Given the description of an element on the screen output the (x, y) to click on. 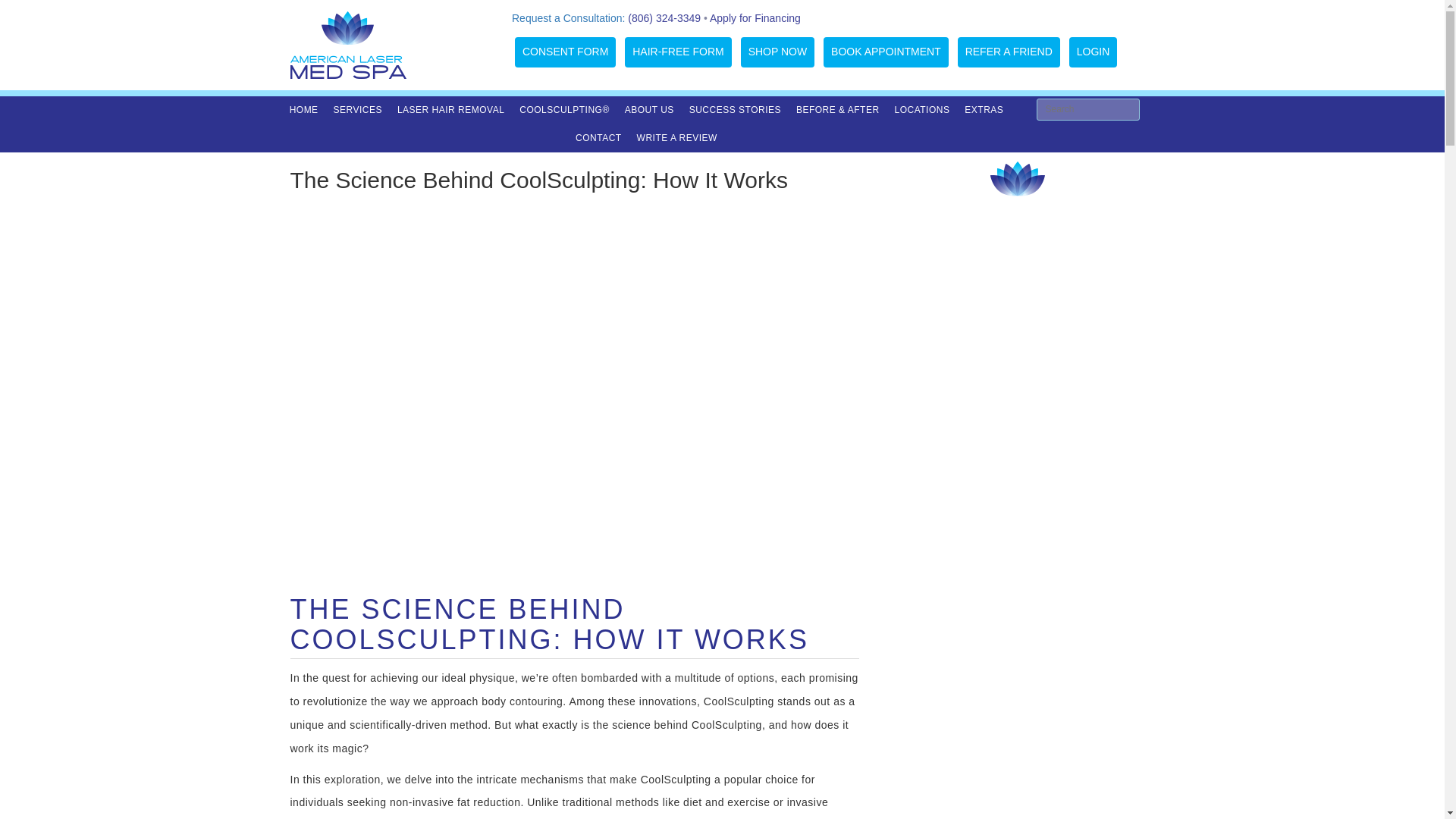
SHOP NOW (778, 52)
CONSENT FORM (565, 52)
SERVICES (357, 110)
LOGIN (1093, 52)
Apply for Financing (755, 18)
HOME (303, 110)
BOOK APPOINTMENT (886, 52)
HAIR-FREE FORM (678, 52)
REFER A FRIEND (1008, 52)
Request a Consultation: (568, 18)
